Given the description of an element on the screen output the (x, y) to click on. 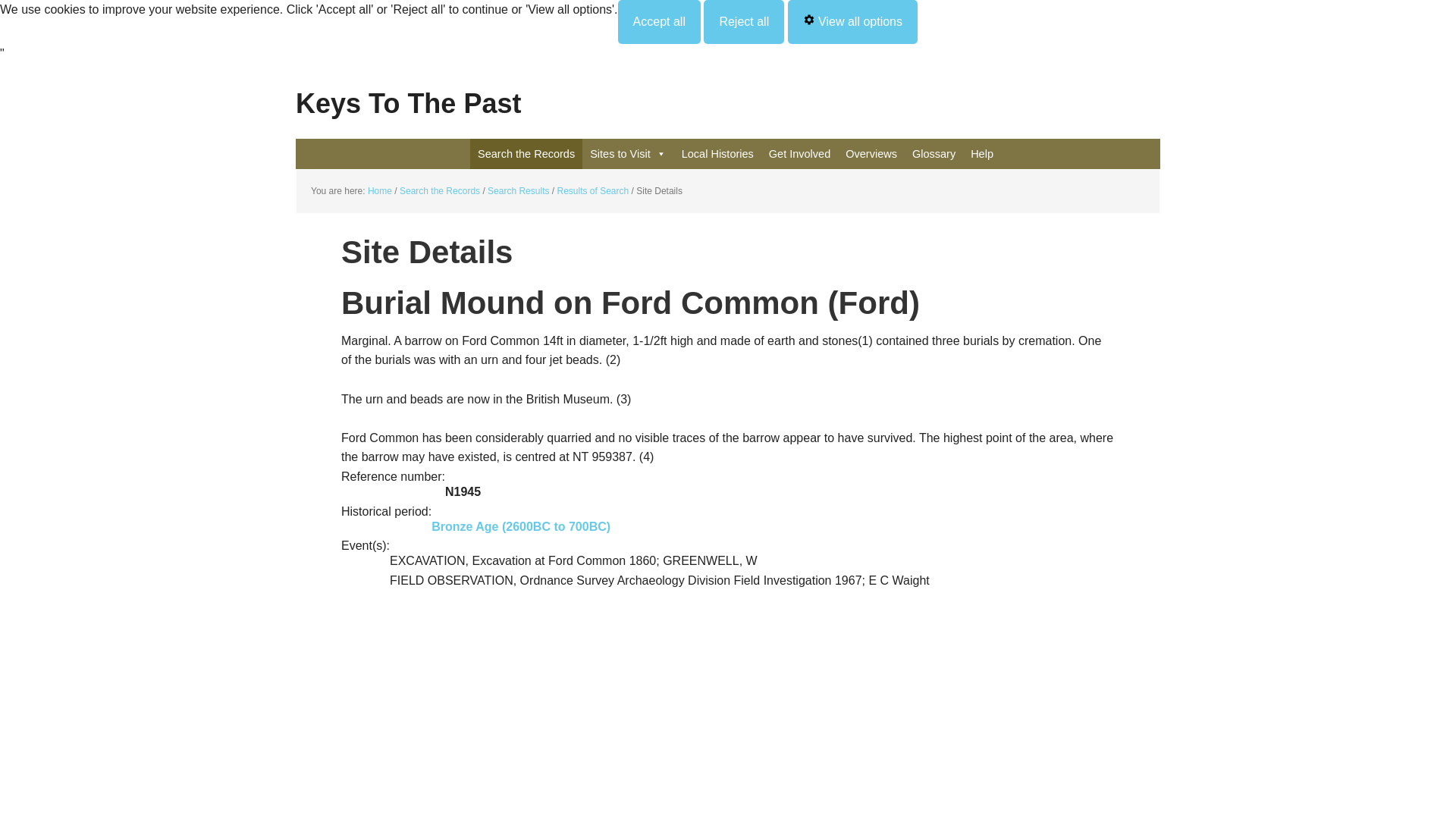
Accept all (658, 22)
View all options (852, 22)
Search the Records (526, 153)
Get Involved (799, 153)
Search Results (517, 190)
Keys To The Past (727, 92)
Search the Records (439, 190)
Home (379, 190)
Sites to Visit (628, 153)
Overviews (871, 153)
Glossary (933, 153)
Help (981, 153)
Reject all (743, 22)
Results of Search (592, 190)
